Given the description of an element on the screen output the (x, y) to click on. 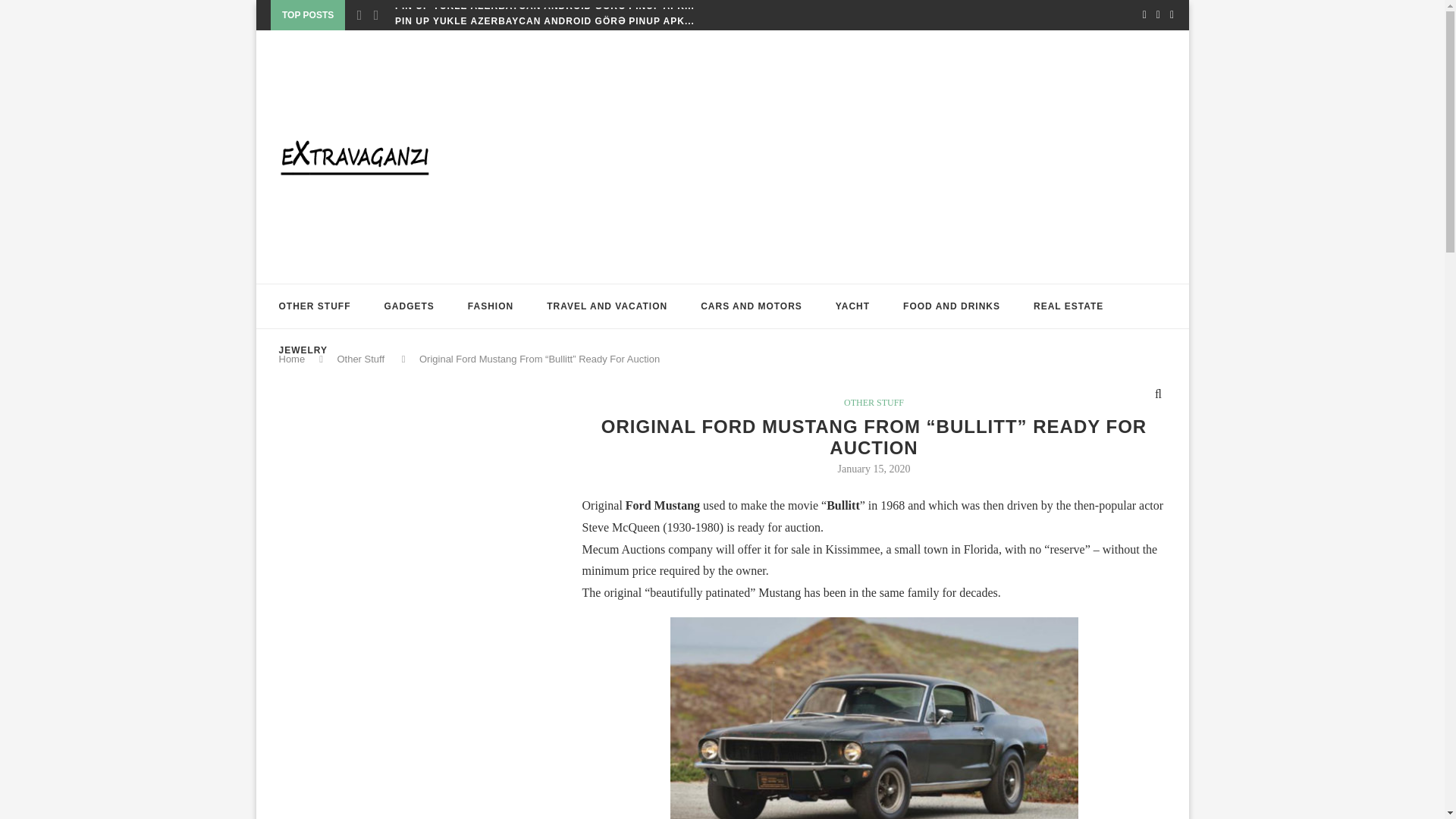
FASHION (490, 306)
Advertisement (392, 538)
GADGETS (408, 306)
FOOD AND DRINKS (951, 306)
CARS AND MOTORS (751, 306)
REAL ESTATE (1068, 306)
OTHER STUFF (314, 306)
TRAVEL AND VACATION (606, 306)
View all posts in Other Stuff (874, 402)
